Given the description of an element on the screen output the (x, y) to click on. 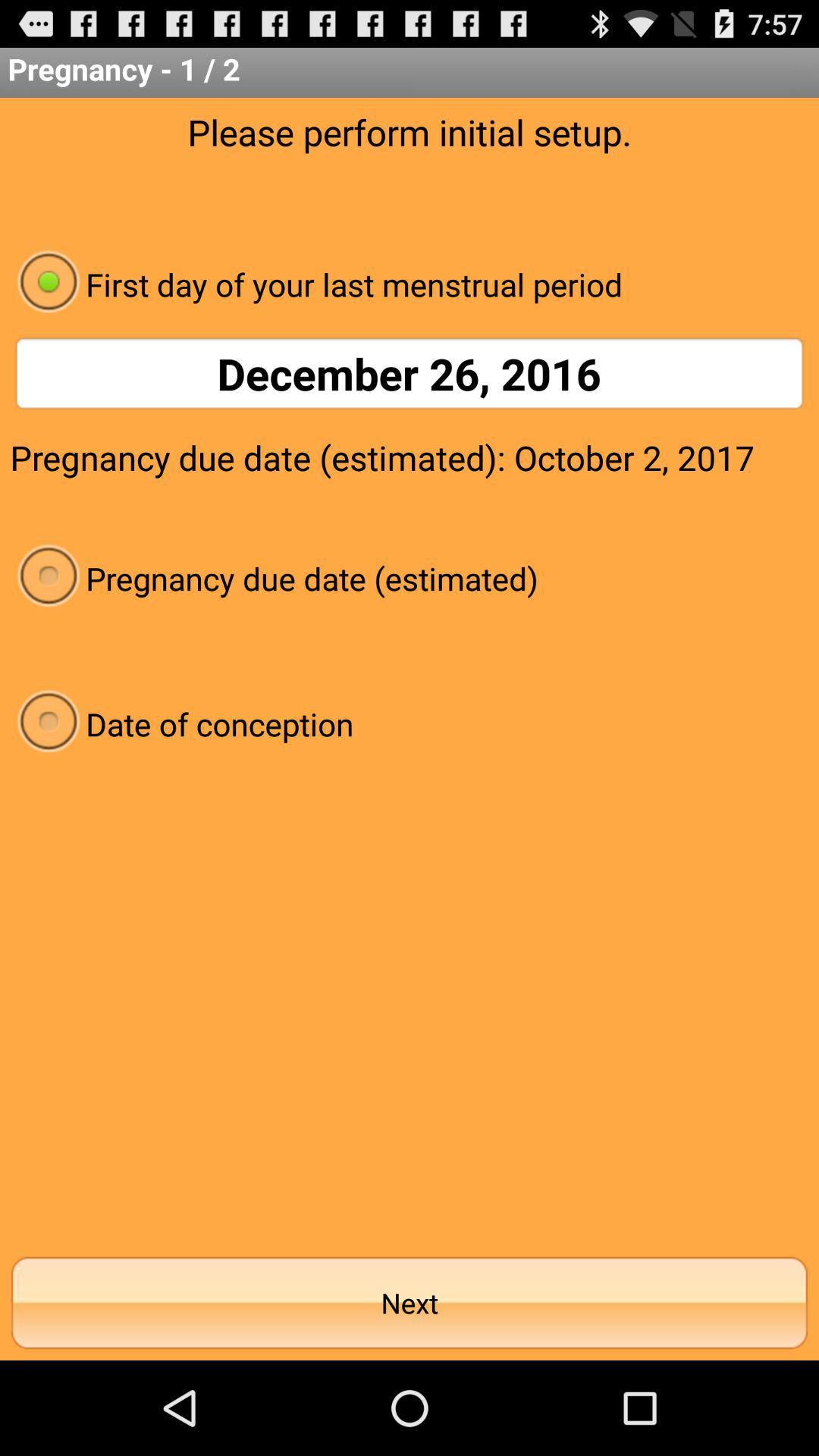
turn on the app below please perform initial app (409, 284)
